Given the description of an element on the screen output the (x, y) to click on. 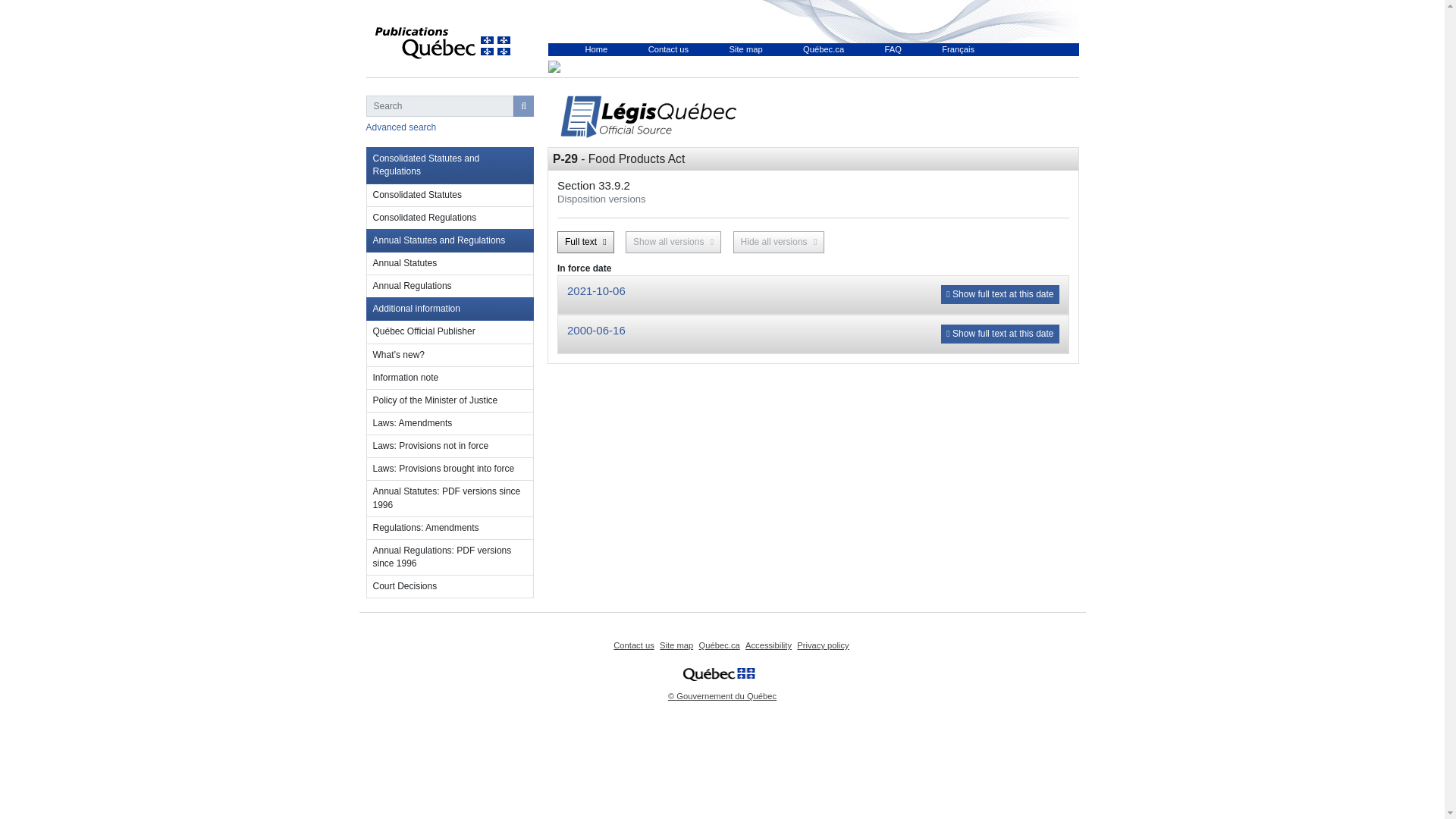
Laws: Provisions brought into force (449, 468)
FAQ (892, 49)
Laws: Amendments (449, 423)
Site map (745, 49)
2000-06-16 (596, 329)
Annual Statutes and Regulations (449, 240)
Hide all versions (779, 241)
Full text (585, 241)
Regulations: Amendments (449, 527)
Consolidated Statutes and Regulations (449, 165)
